Given the description of an element on the screen output the (x, y) to click on. 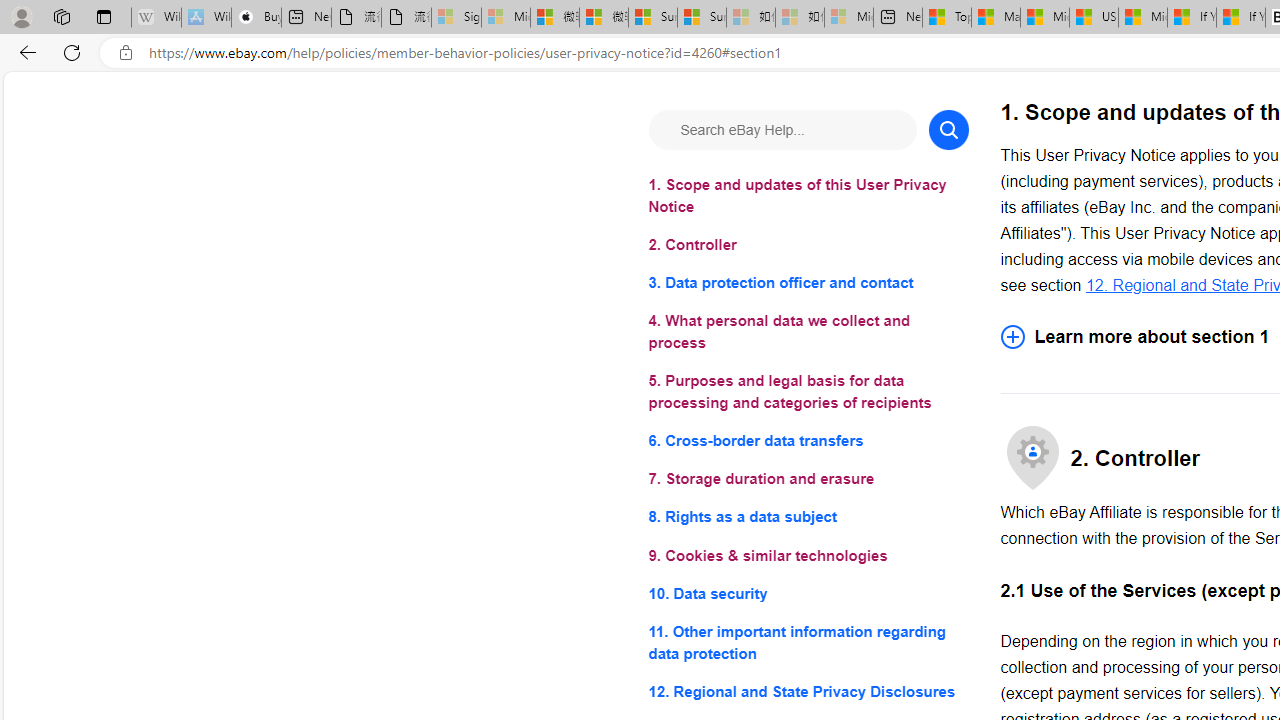
4. What personal data we collect and process (807, 332)
12. Regional and State Privacy Disclosures (807, 690)
12. Regional and State Privacy Disclosures (807, 690)
